Given the description of an element on the screen output the (x, y) to click on. 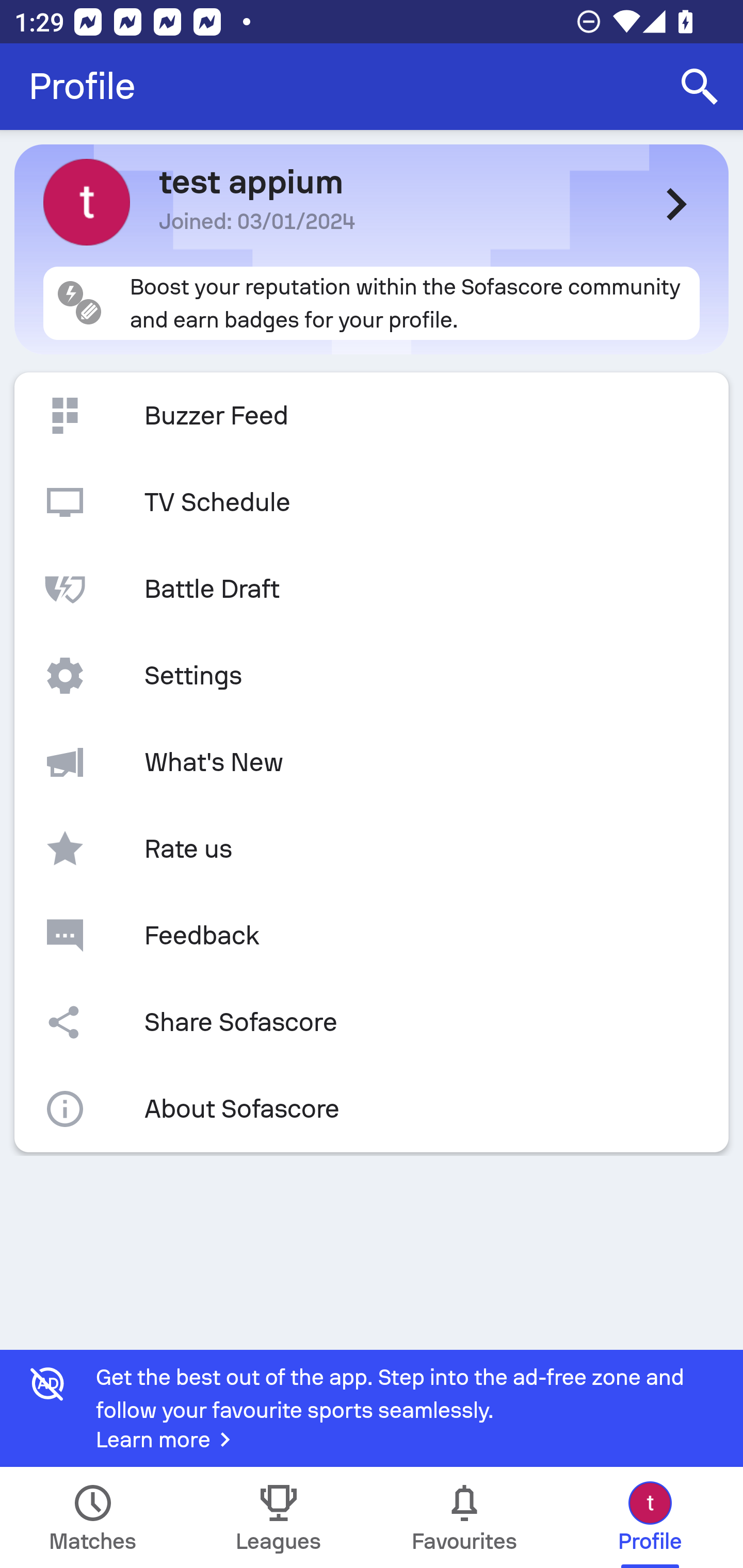
Profile (81, 86)
Search (699, 86)
Buzzer Feed (371, 416)
TV Schedule (371, 502)
Battle Draft (371, 588)
Settings (371, 675)
What's New (371, 762)
Rate us (371, 848)
Feedback (371, 935)
Share Sofascore (371, 1022)
About Sofascore (371, 1109)
Matches (92, 1517)
Leagues (278, 1517)
Favourites (464, 1517)
